Given the description of an element on the screen output the (x, y) to click on. 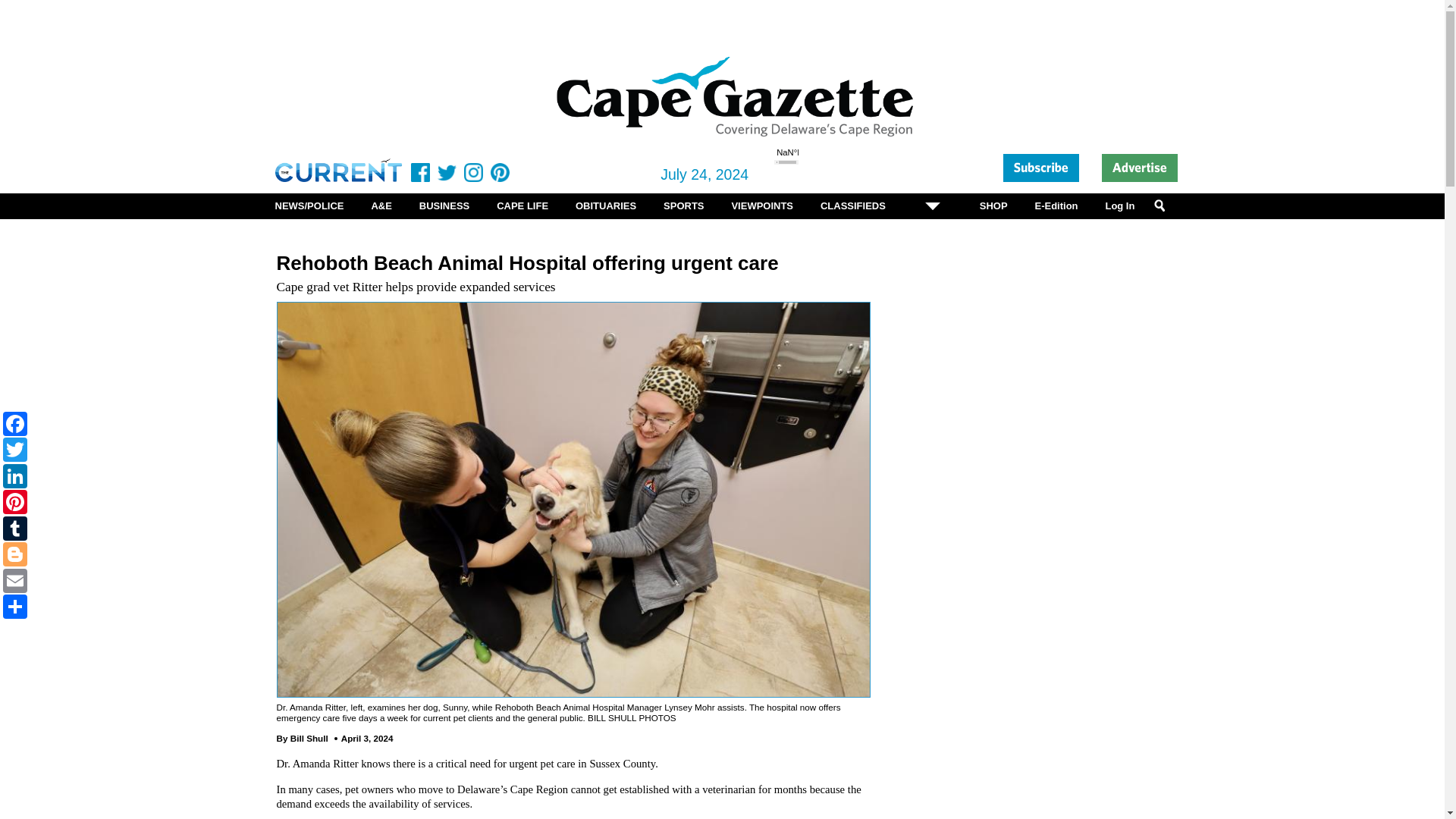
Weather Widget (804, 169)
